Given the description of an element on the screen output the (x, y) to click on. 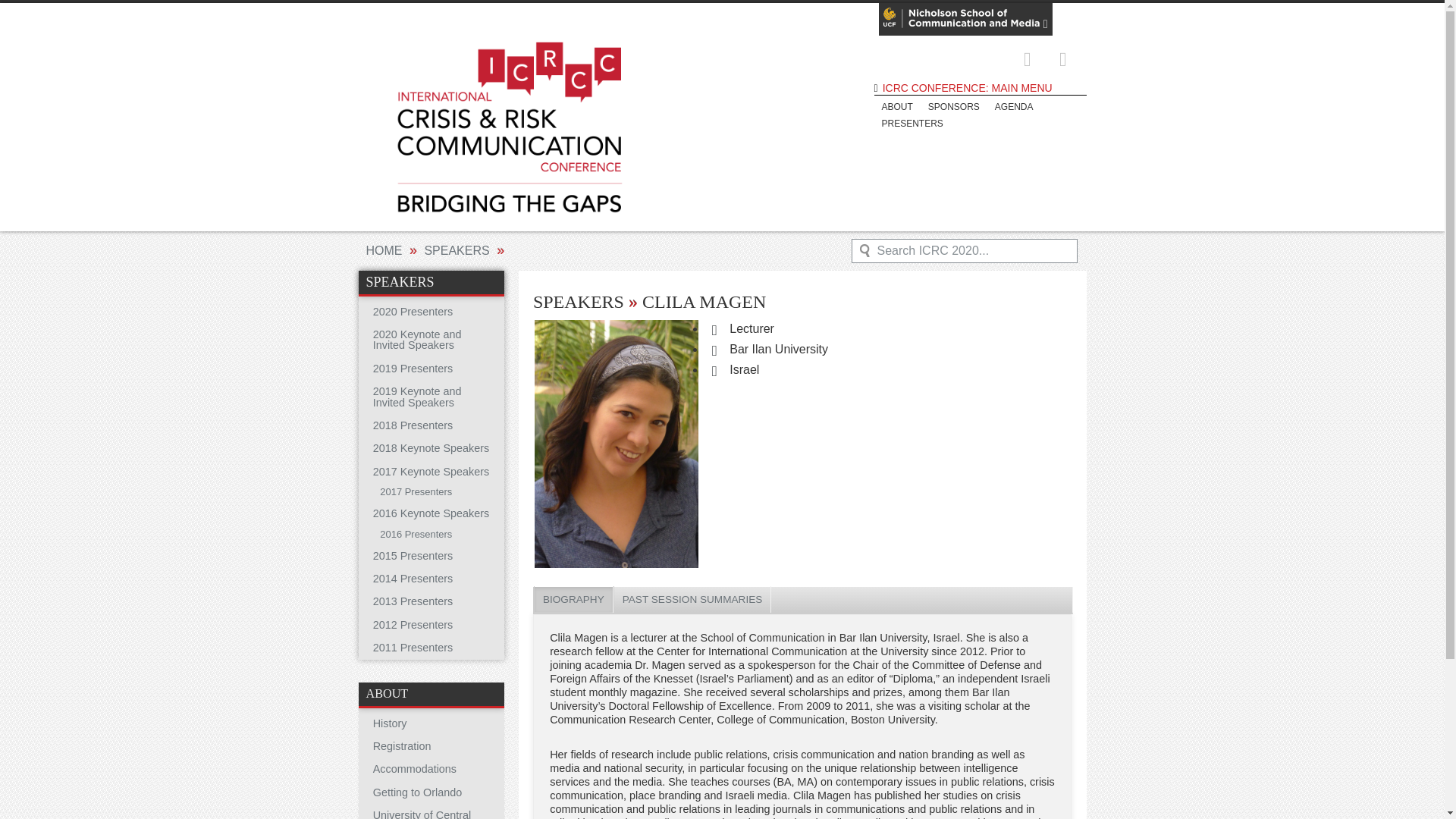
SPONSORS (954, 106)
2017 Presenters (430, 492)
Twitter (1063, 60)
AGENDA (1013, 106)
View All 2017 Presenters Members (430, 492)
View All 2013 Presenters Members (430, 600)
2020 Presenters (430, 311)
Facebook (1026, 60)
SPEAKERS (456, 250)
Registration (430, 745)
2019 Presenters (430, 368)
2013 Presenters (430, 600)
Accommodations (430, 768)
BIOGRAPHY (573, 599)
View All 2012 Presenters Members (430, 624)
